Given the description of an element on the screen output the (x, y) to click on. 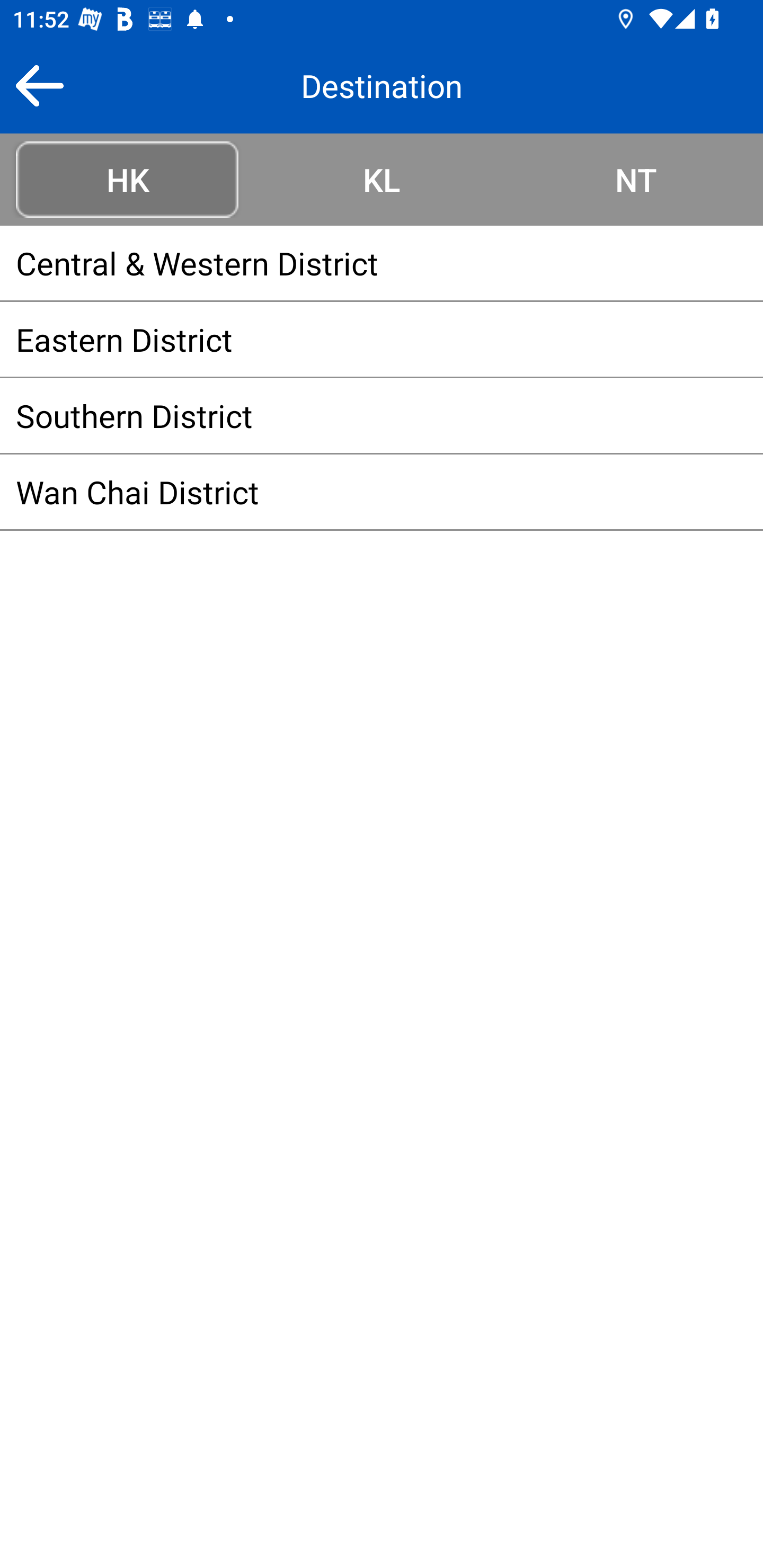
Back (39, 85)
HK (127, 179)
KL (381, 179)
NT (635, 179)
Central & Western District (381, 263)
Eastern District (381, 339)
Southern District (381, 415)
Wan Chai District (381, 491)
